Given the description of an element on the screen output the (x, y) to click on. 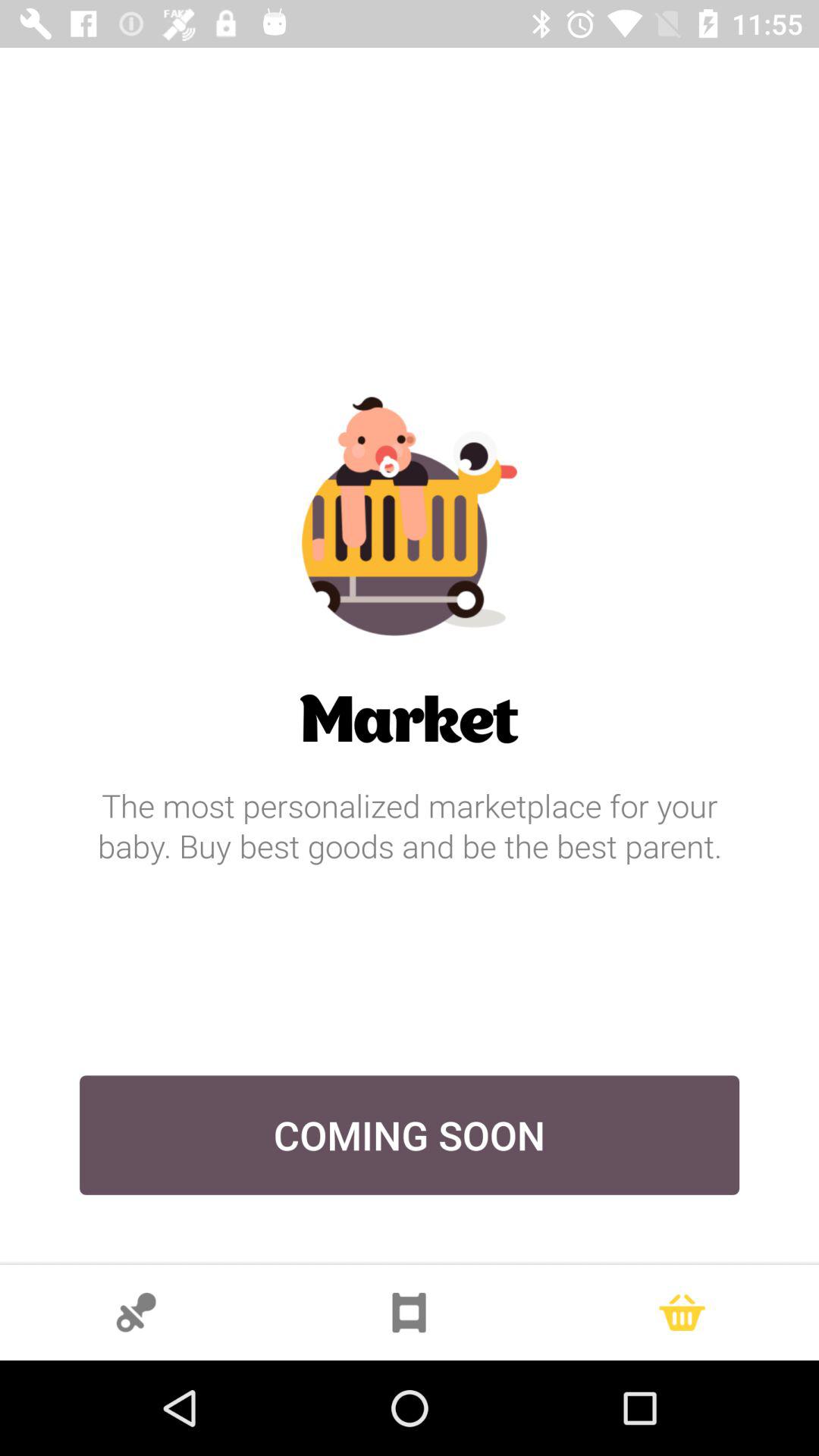
delete (682, 1312)
